Given the description of an element on the screen output the (x, y) to click on. 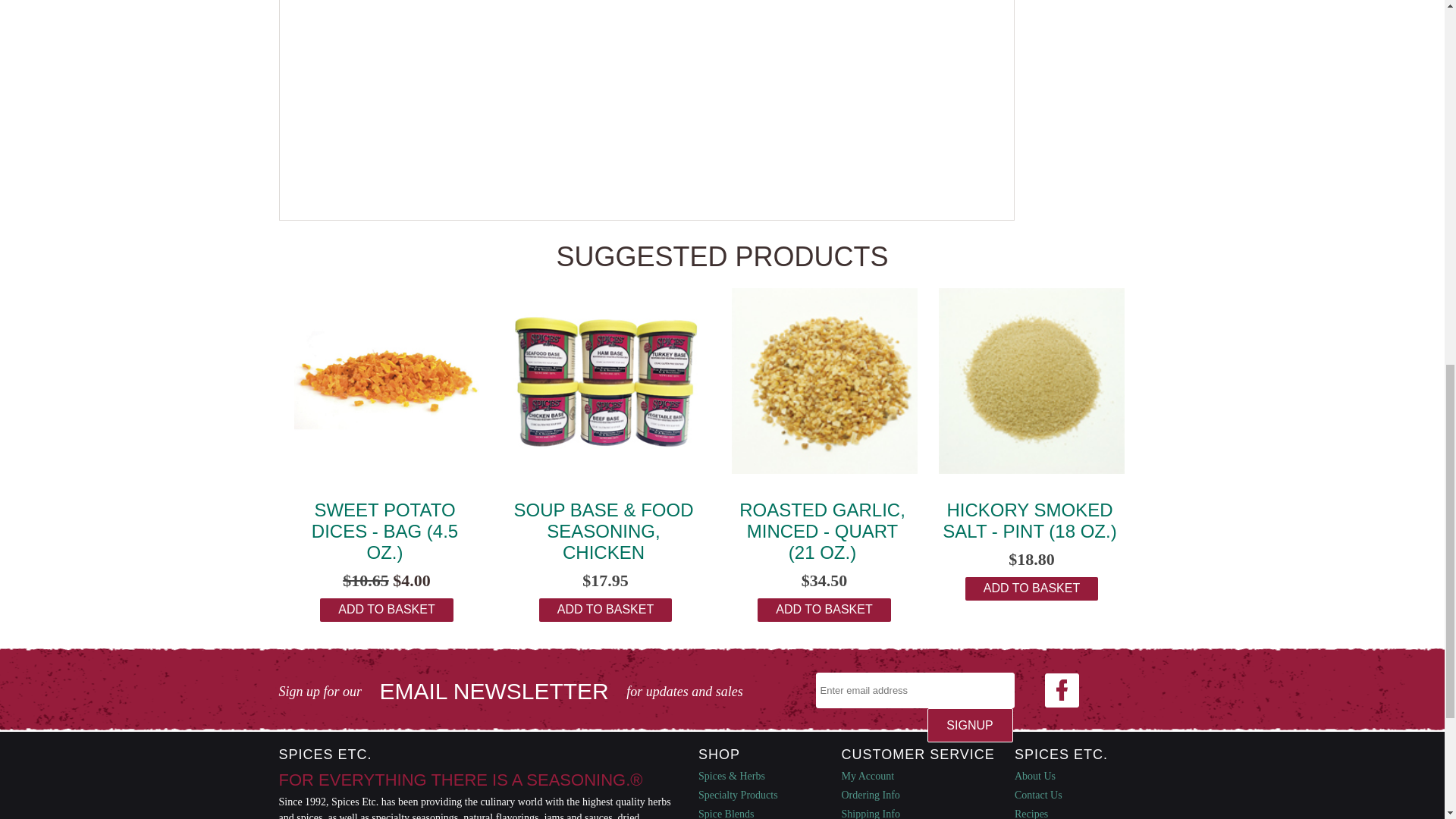
Signup (968, 725)
Add to Basket (604, 609)
Add to Basket (823, 609)
Add to Basket (386, 609)
Add to Basket (1031, 588)
